Given the description of an element on the screen output the (x, y) to click on. 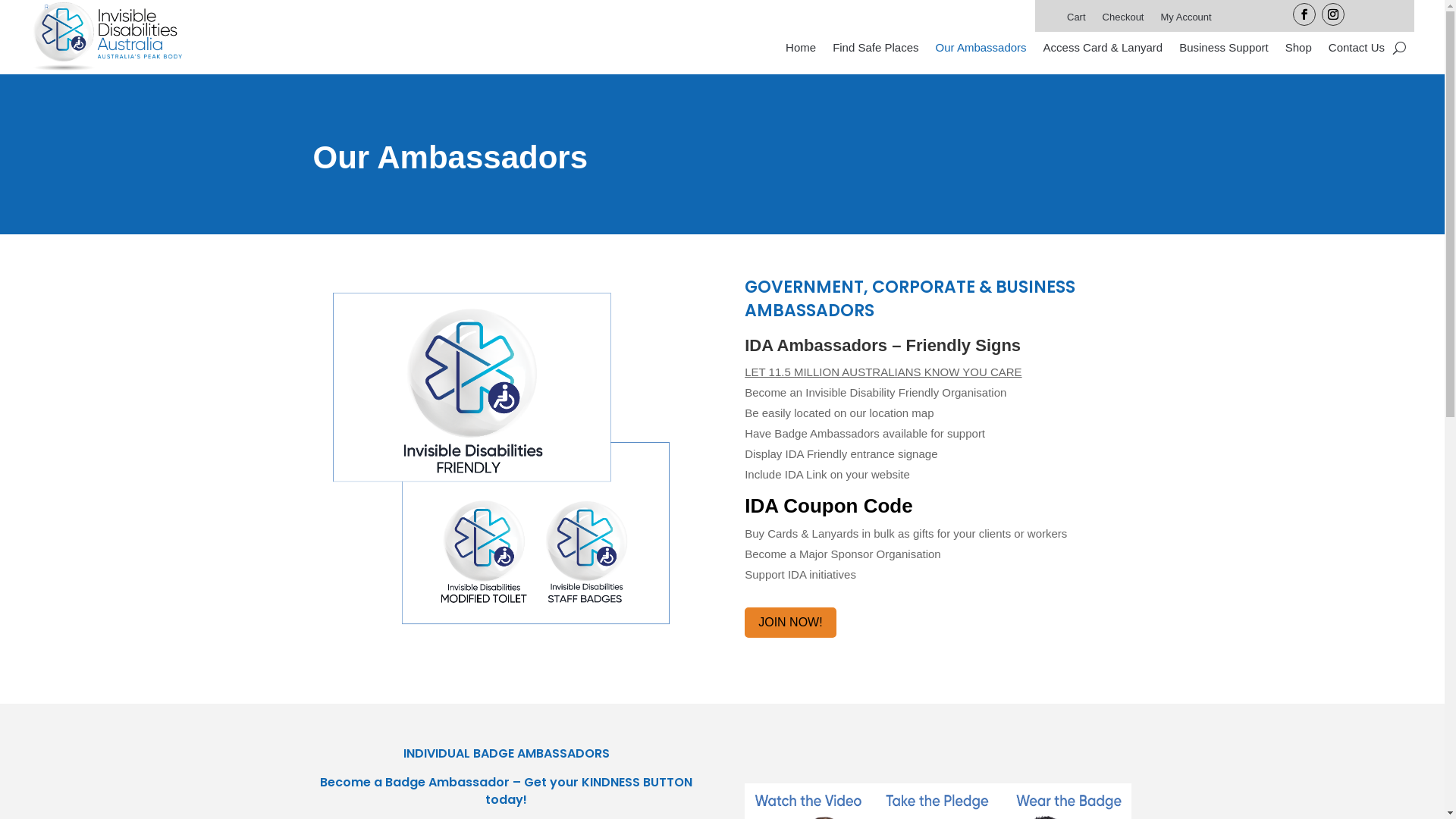
JOIN NOW! Element type: text (789, 622)
Our Ambassadors Element type: text (980, 50)
Access Card & Lanyard Element type: text (1103, 50)
Home Element type: text (800, 50)
My Account Element type: text (1185, 20)
Follow on Instagram Element type: hover (1332, 14)
Shop Element type: text (1298, 50)
badge ambassador Element type: hover (505, 457)
Contact Us Element type: text (1356, 50)
Cart Element type: text (1075, 20)
Follow on Facebook Element type: hover (1303, 14)
Checkout Element type: text (1123, 20)
Business Support Element type: text (1223, 50)
Find Safe Places Element type: text (875, 50)
